Given the description of an element on the screen output the (x, y) to click on. 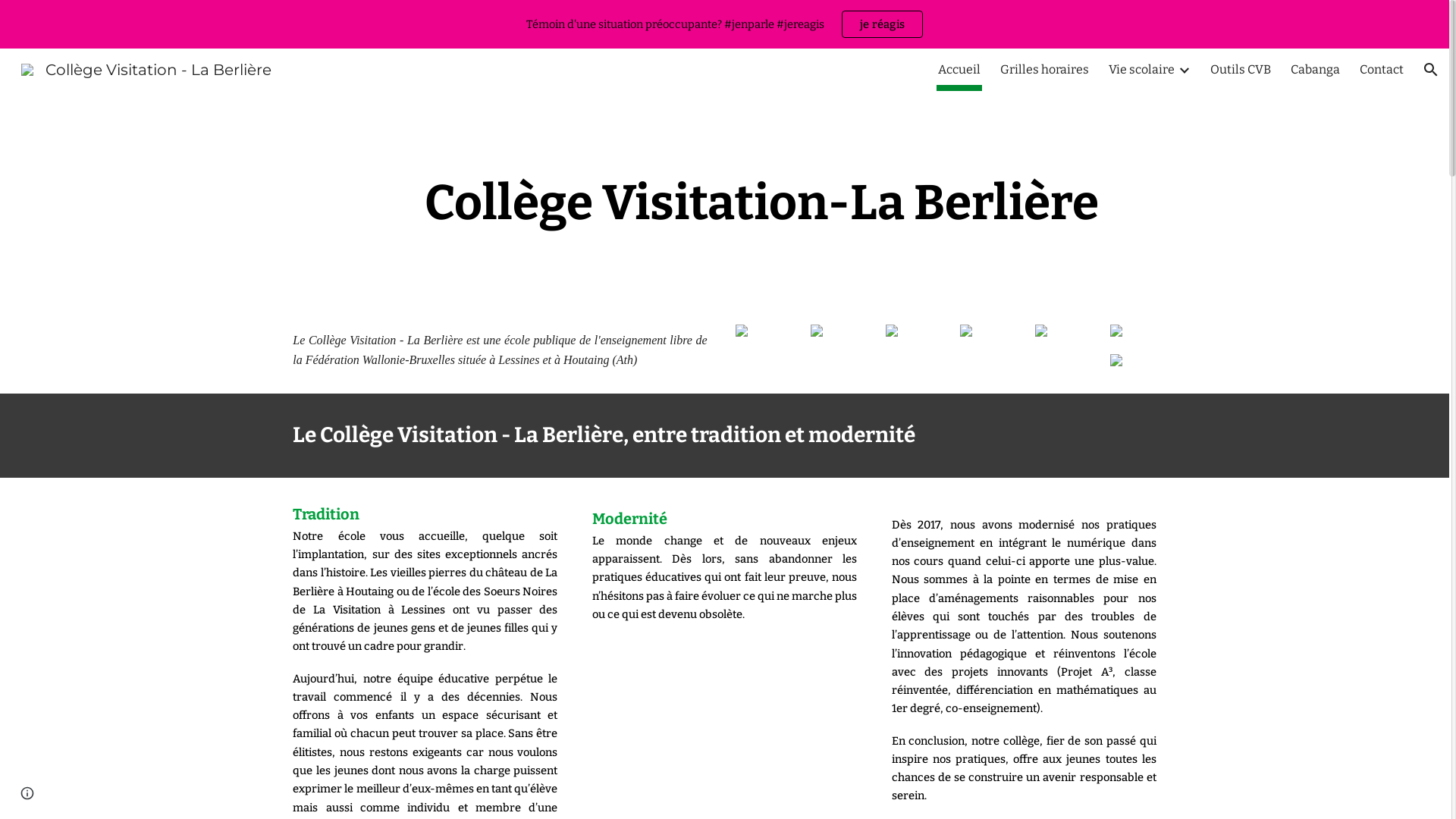
Grilles horaires Element type: text (1044, 69)
Accueil Element type: text (959, 69)
Cabanga Element type: text (1314, 69)
Contact Element type: text (1381, 69)
Vie scolaire Element type: text (1141, 69)
Outils CVB Element type: text (1240, 69)
Expand/Collapse Element type: hover (1183, 69)
